Given the description of an element on the screen output the (x, y) to click on. 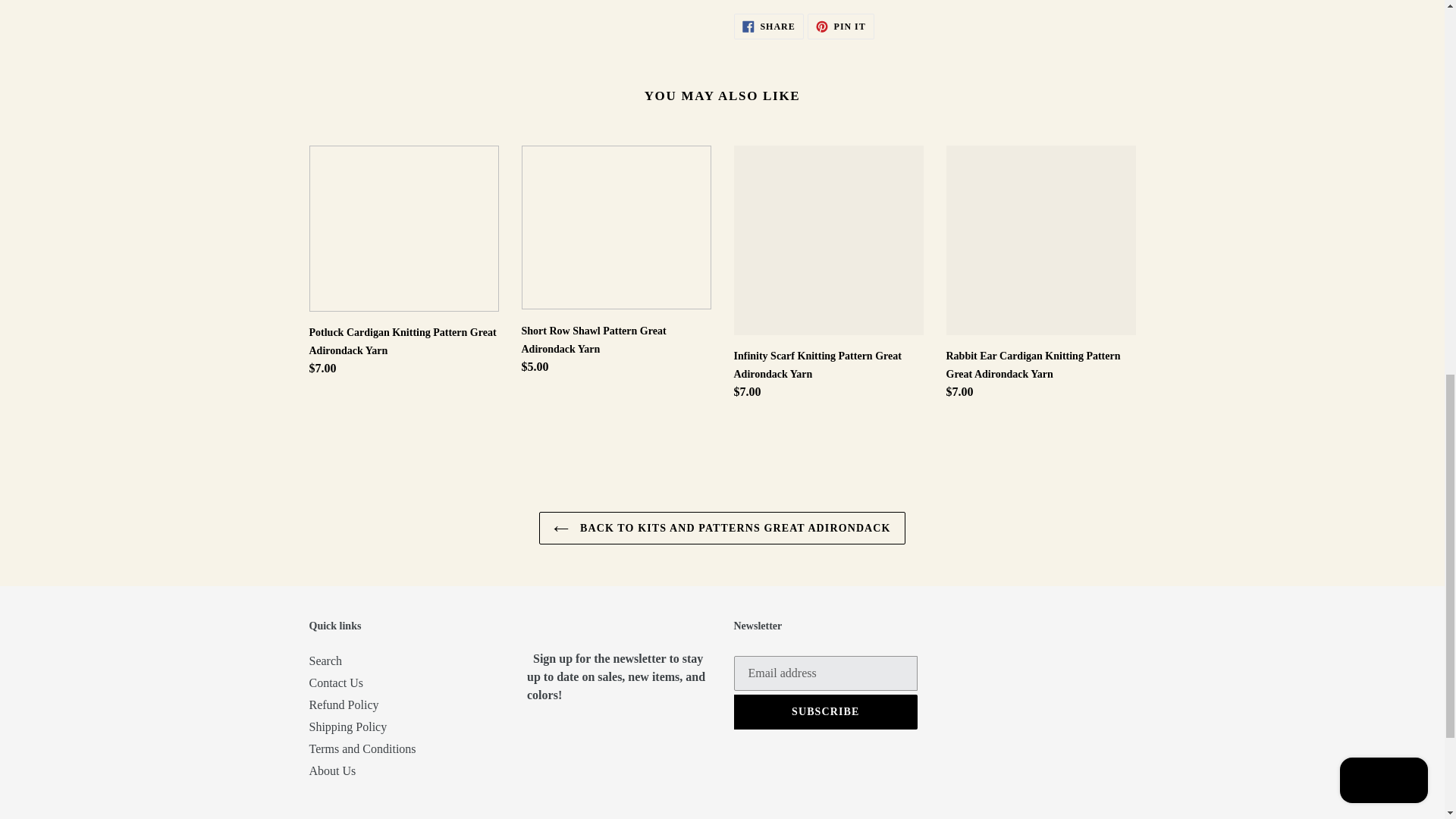
Refund Policy (343, 704)
Shipping Policy (347, 726)
Terms and Conditions (362, 748)
Contact Us (336, 682)
SUBSCRIBE (825, 711)
About Us (332, 770)
BACK TO KITS AND PATTERNS GREAT ADIRONDACK (841, 26)
Search (721, 527)
